Given the description of an element on the screen output the (x, y) to click on. 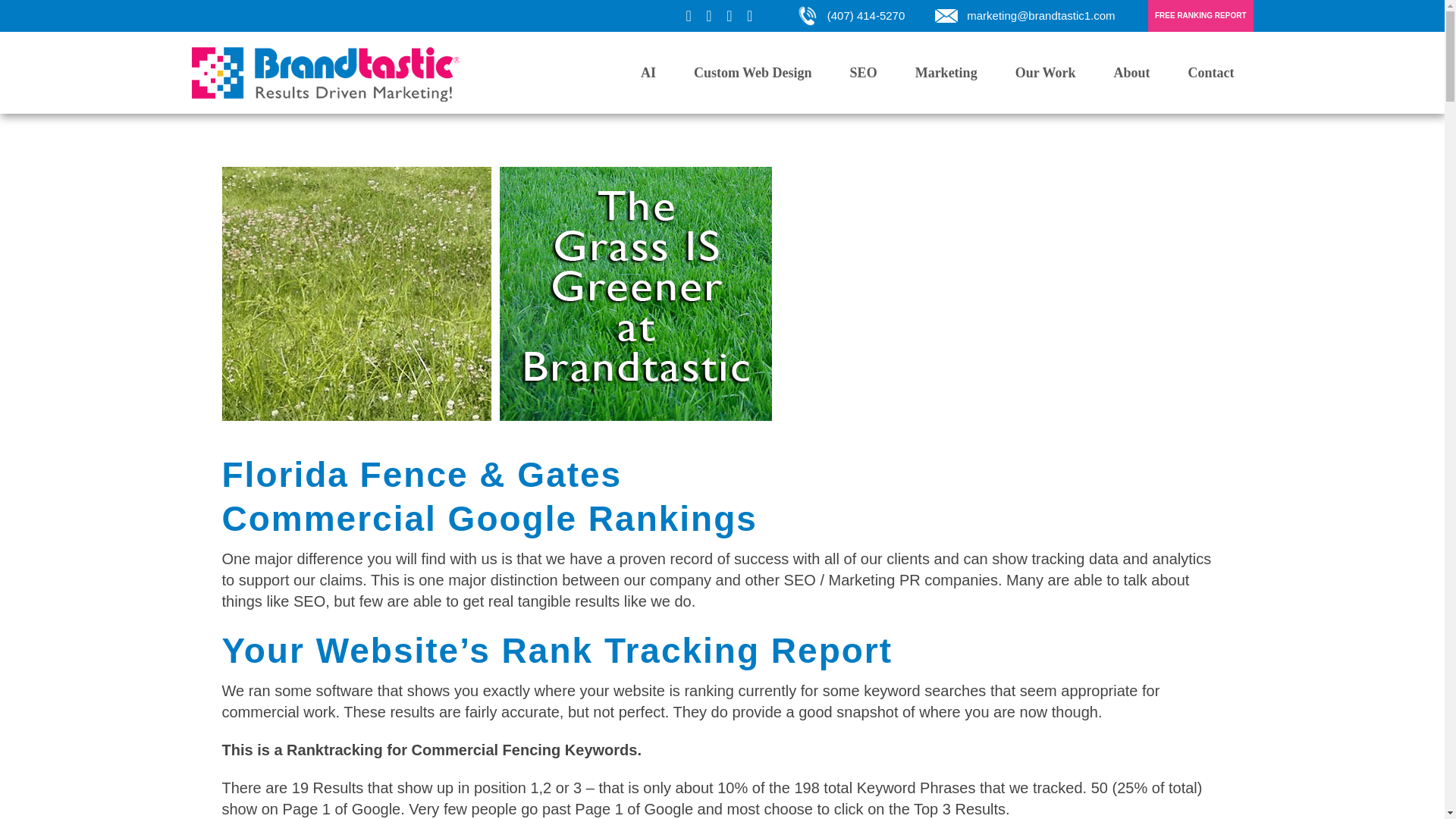
Custom Web Design (753, 72)
About (1131, 72)
FREE RANKING REPORT (1200, 15)
Marketing (945, 72)
Our Work (1044, 72)
